Given the description of an element on the screen output the (x, y) to click on. 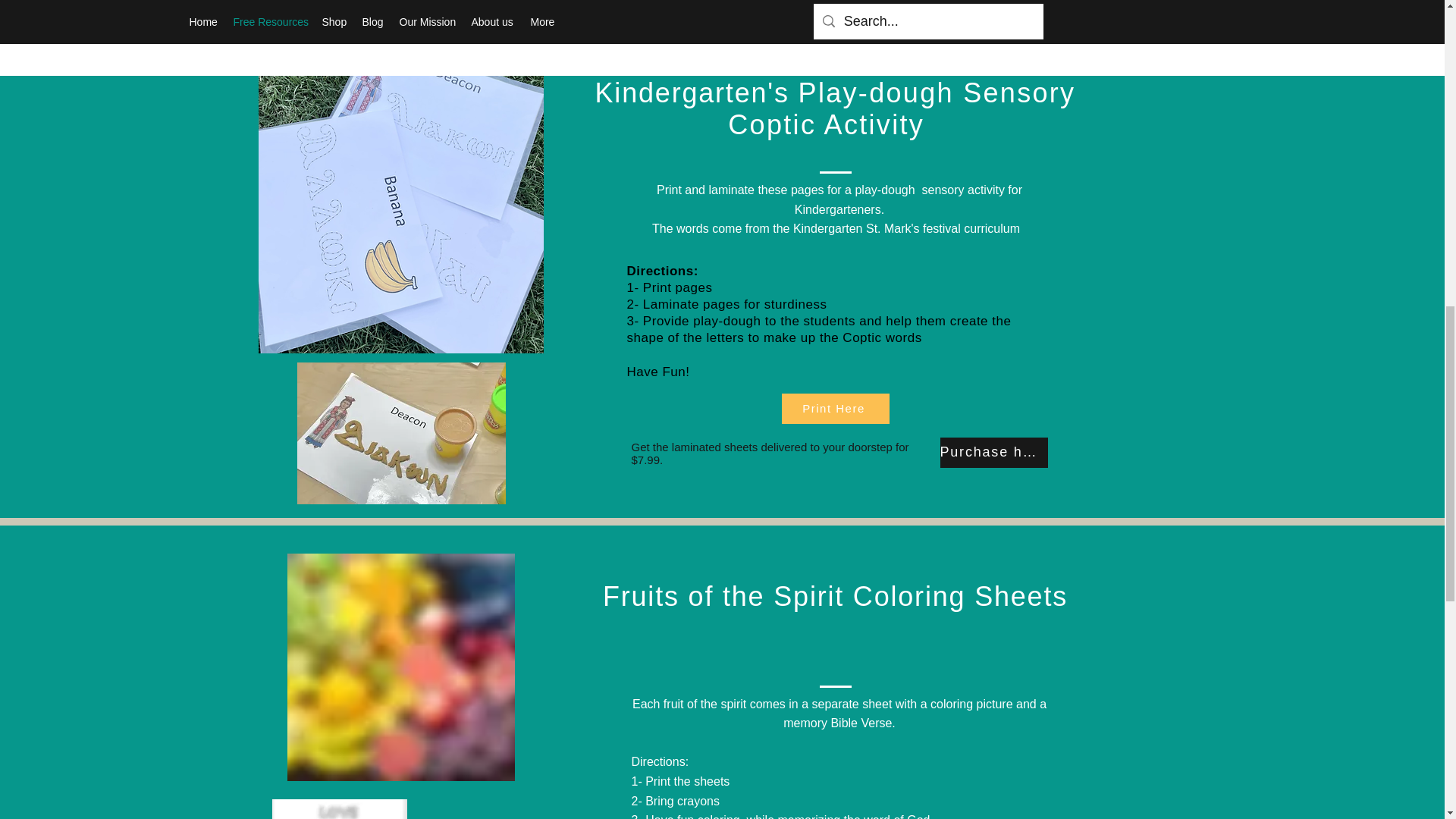
Purchase here (994, 452)
Print Here (834, 408)
